Given the description of an element on the screen output the (x, y) to click on. 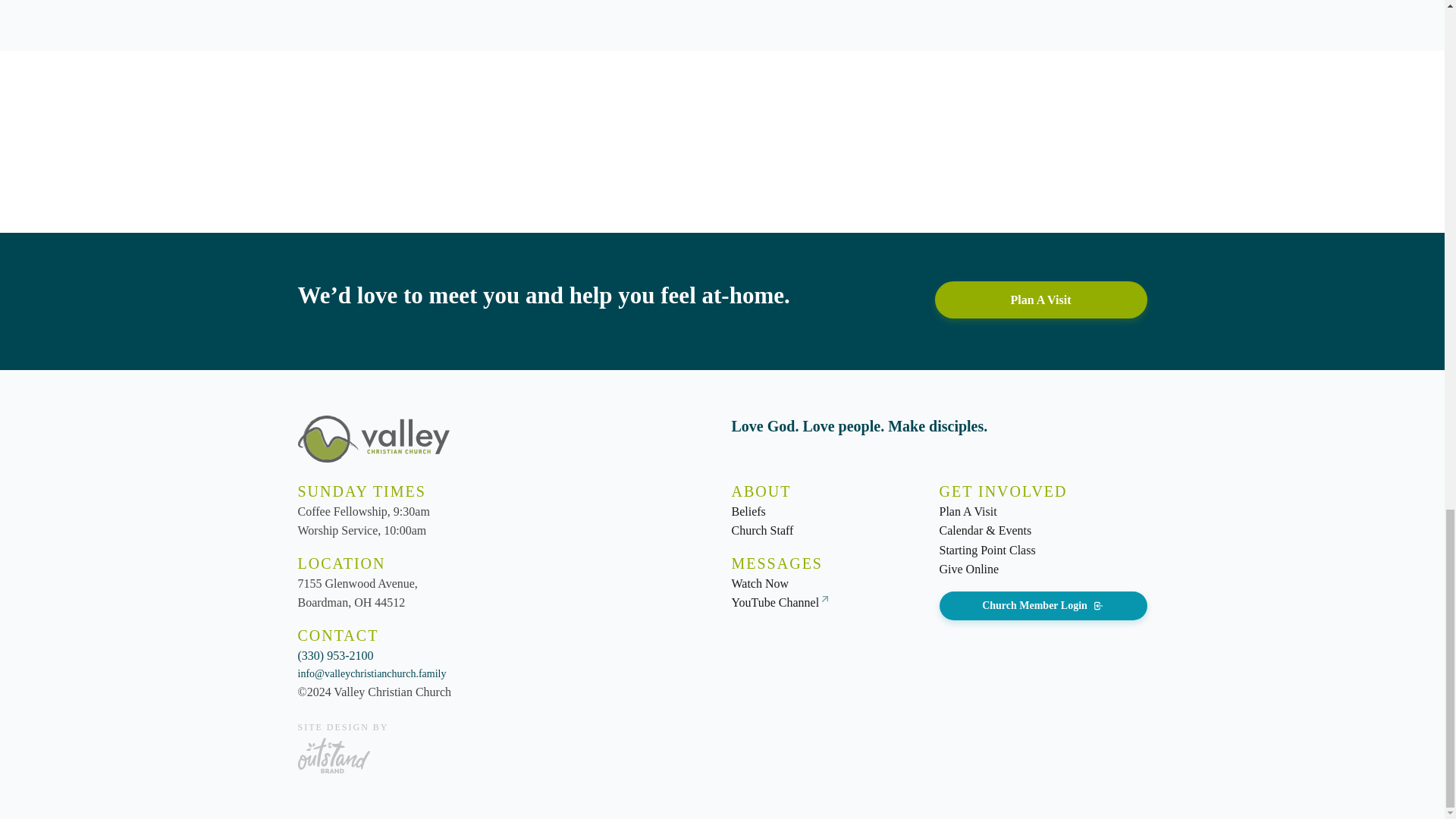
Plan A Visit (967, 511)
Beliefs (747, 511)
Plan A Visit (1040, 300)
Church Member Login (1043, 605)
Church Staff (761, 530)
Starting Point Class (987, 550)
SITE DESIGN BY (342, 746)
Watch Now (759, 583)
YouTube Channel (774, 602)
Give Online (968, 569)
